Given the description of an element on the screen output the (x, y) to click on. 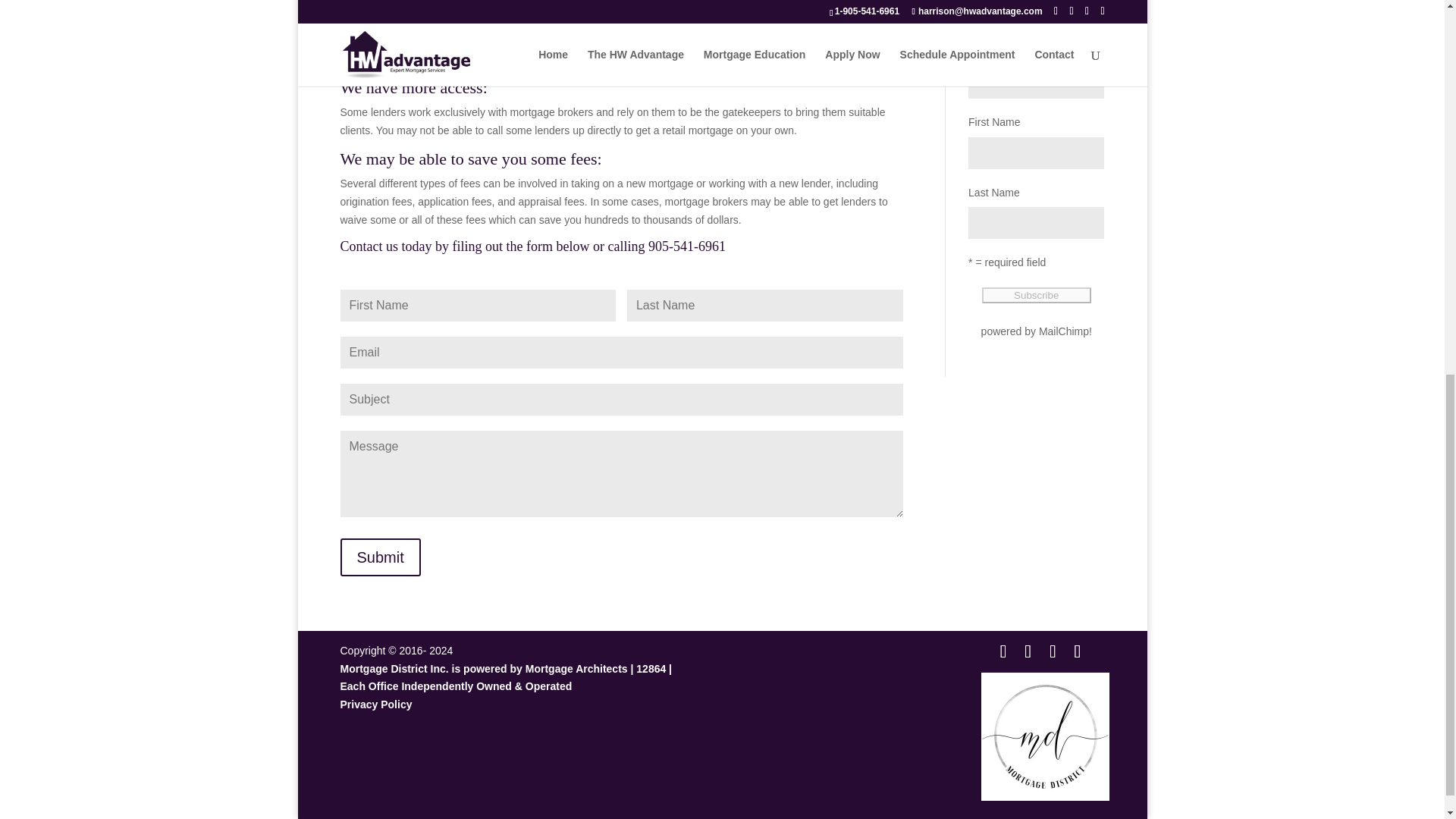
Subscribe (1035, 295)
905-541-6961 (686, 246)
MailChimp (1064, 331)
Mortgage District (1045, 736)
Submit (379, 557)
Subscribe (1035, 295)
